Given the description of an element on the screen output the (x, y) to click on. 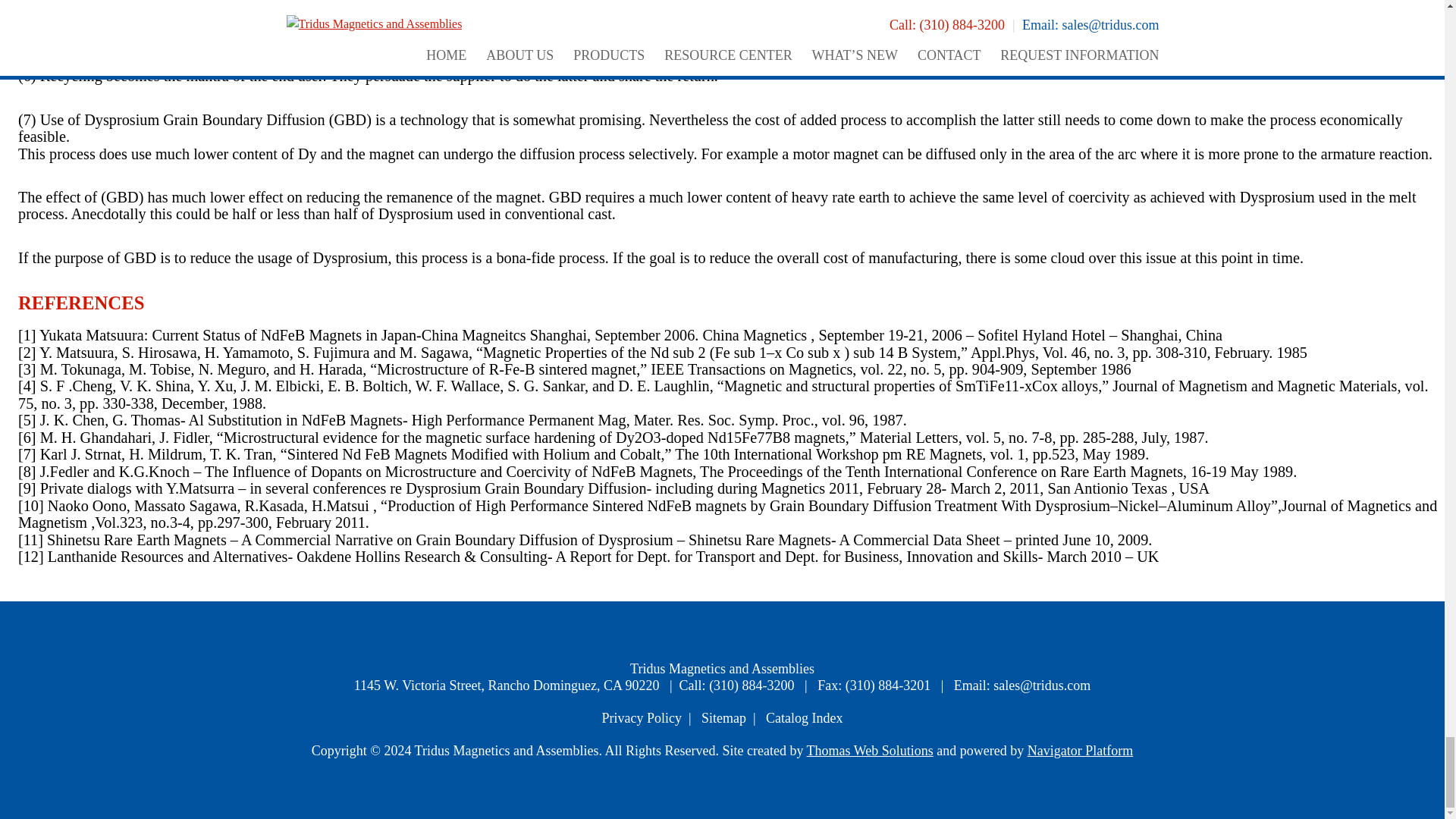
Catalog Index (804, 717)
Thomas Web Solutions (869, 750)
Navigator Platform (1079, 750)
Privacy Policy (641, 717)
Sitemap (723, 717)
Navigator Platform (1079, 750)
Thomas Web Solutions (869, 750)
Privacy Policy (641, 717)
Sitemap (723, 717)
